Given the description of an element on the screen output the (x, y) to click on. 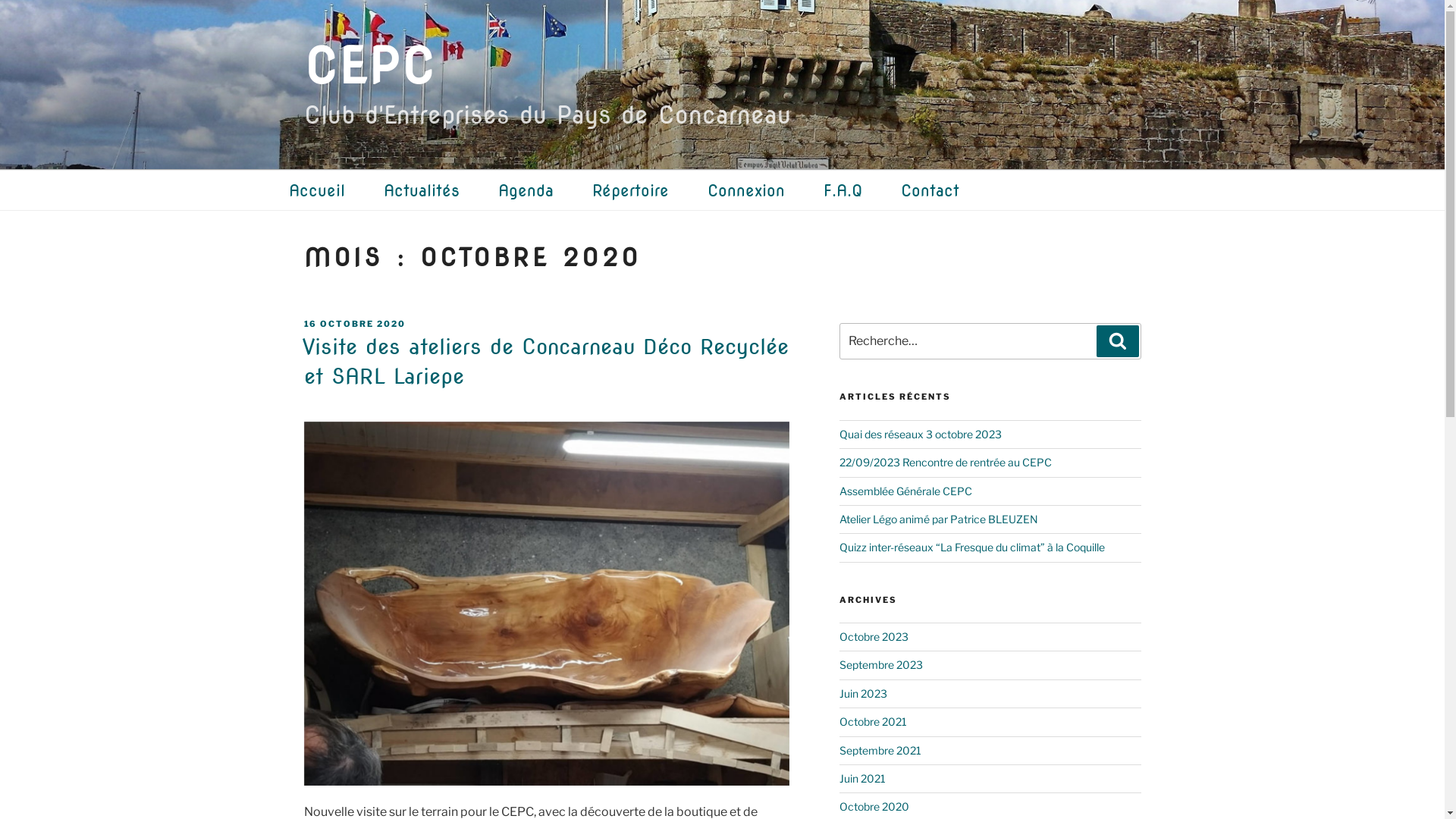
Juin 2023 Element type: text (863, 693)
Septembre 2023 Element type: text (880, 664)
Recherche Element type: text (1117, 341)
Octobre 2021 Element type: text (872, 721)
Accueil Element type: text (334, 190)
F.A.Q Element type: text (860, 190)
Juin 2021 Element type: text (862, 777)
CEPC Element type: text (369, 66)
Agenda Element type: text (543, 190)
Connexion Element type: text (763, 190)
Octobre 2023 Element type: text (873, 636)
Octobre 2020 Element type: text (874, 806)
16 OCTOBRE 2020 Element type: text (354, 323)
Septembre 2021 Element type: text (880, 749)
Contact Element type: text (947, 190)
